Given the description of an element on the screen output the (x, y) to click on. 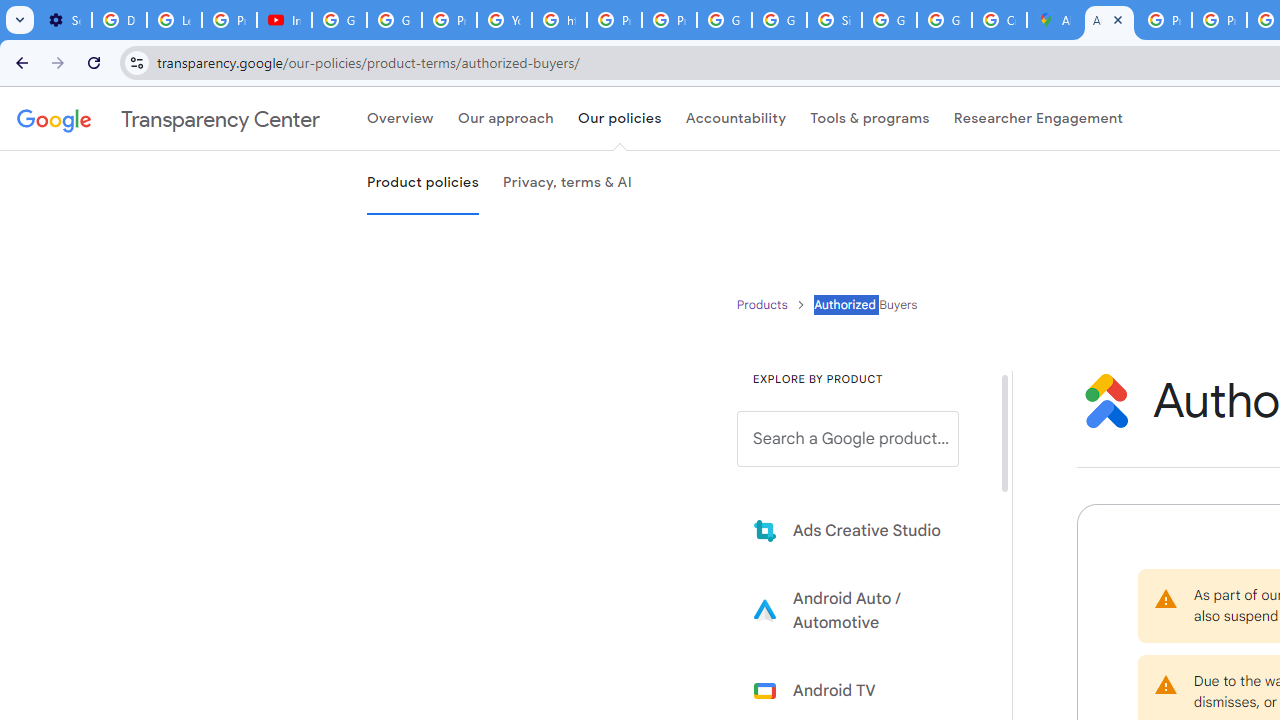
Product policies (763, 304)
